Given the description of an element on the screen output the (x, y) to click on. 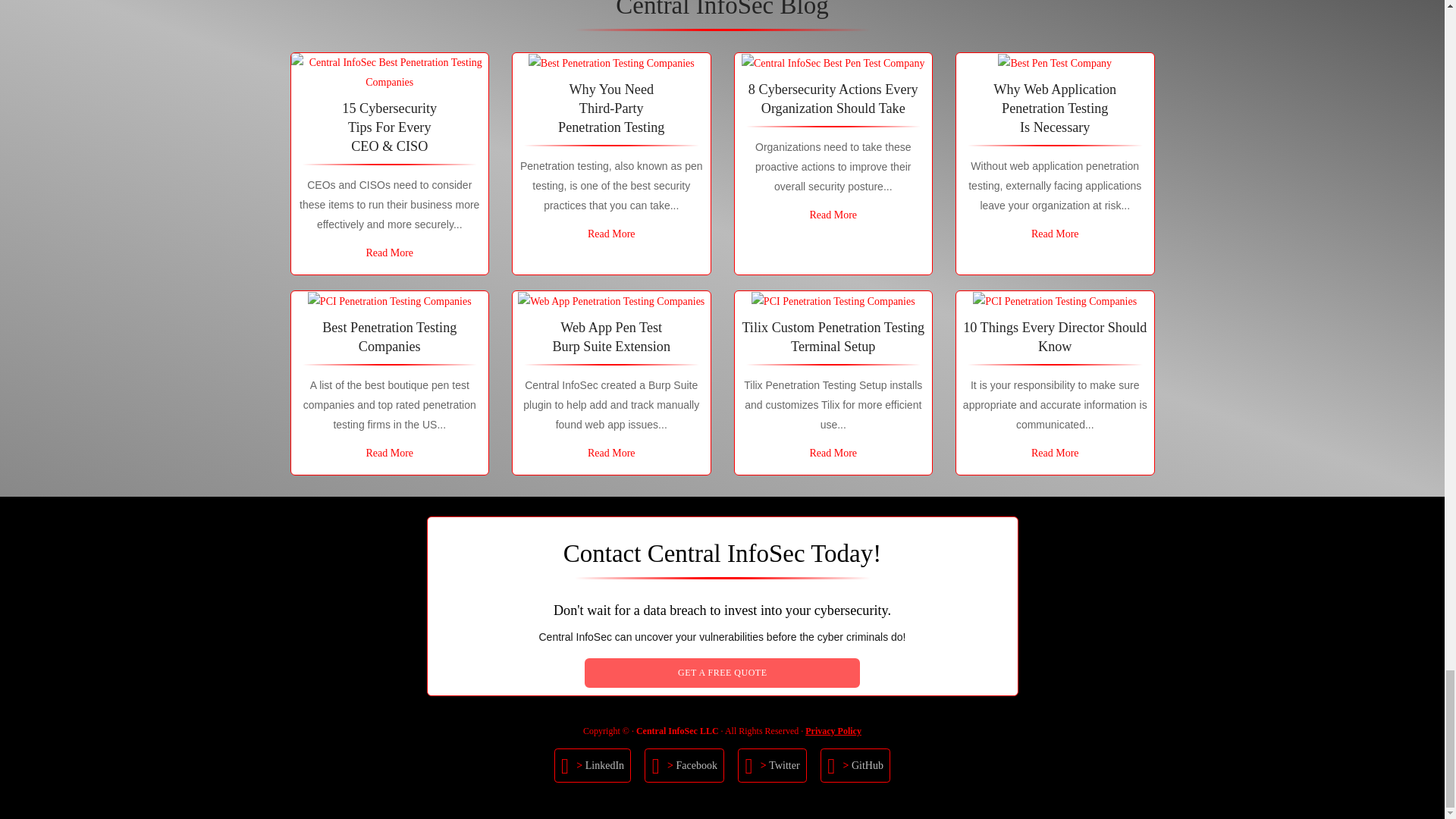
Read More (1054, 233)
Best Penetration Testing Companies (611, 63)
Read More (833, 214)
Best Pen Test Company (1054, 63)
Central InfoSec Best Pen Test Company (832, 63)
Central InfoSec Best Penetration Testing Companies (390, 72)
Read More (389, 252)
Web App Penetration Testing Companies (611, 301)
PCI Penetration Testing Companies (833, 301)
PCI Penetration Testing Companies (1054, 301)
